Given the description of an element on the screen output the (x, y) to click on. 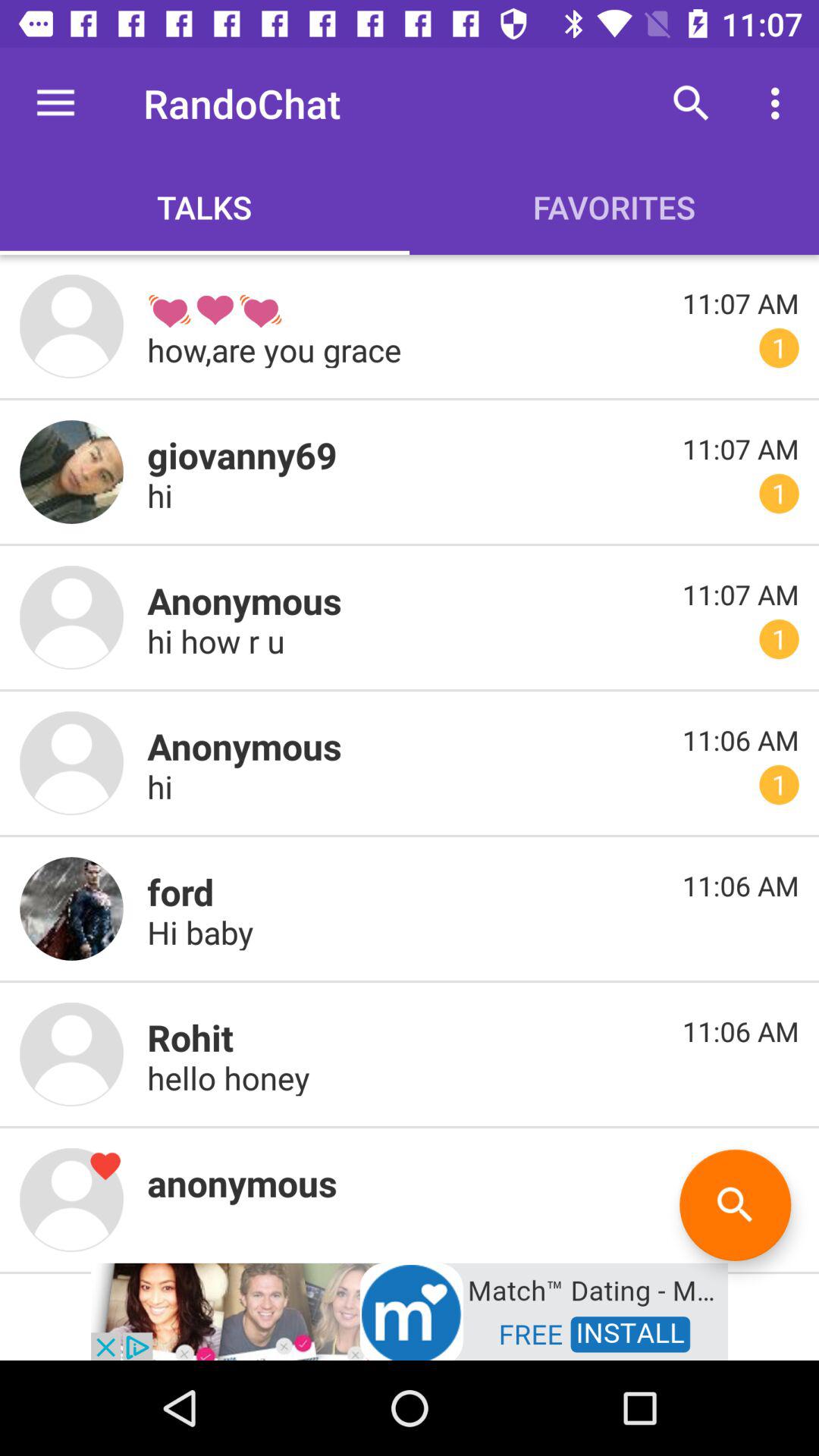
go to the advertisement (409, 1310)
